Given the description of an element on the screen output the (x, y) to click on. 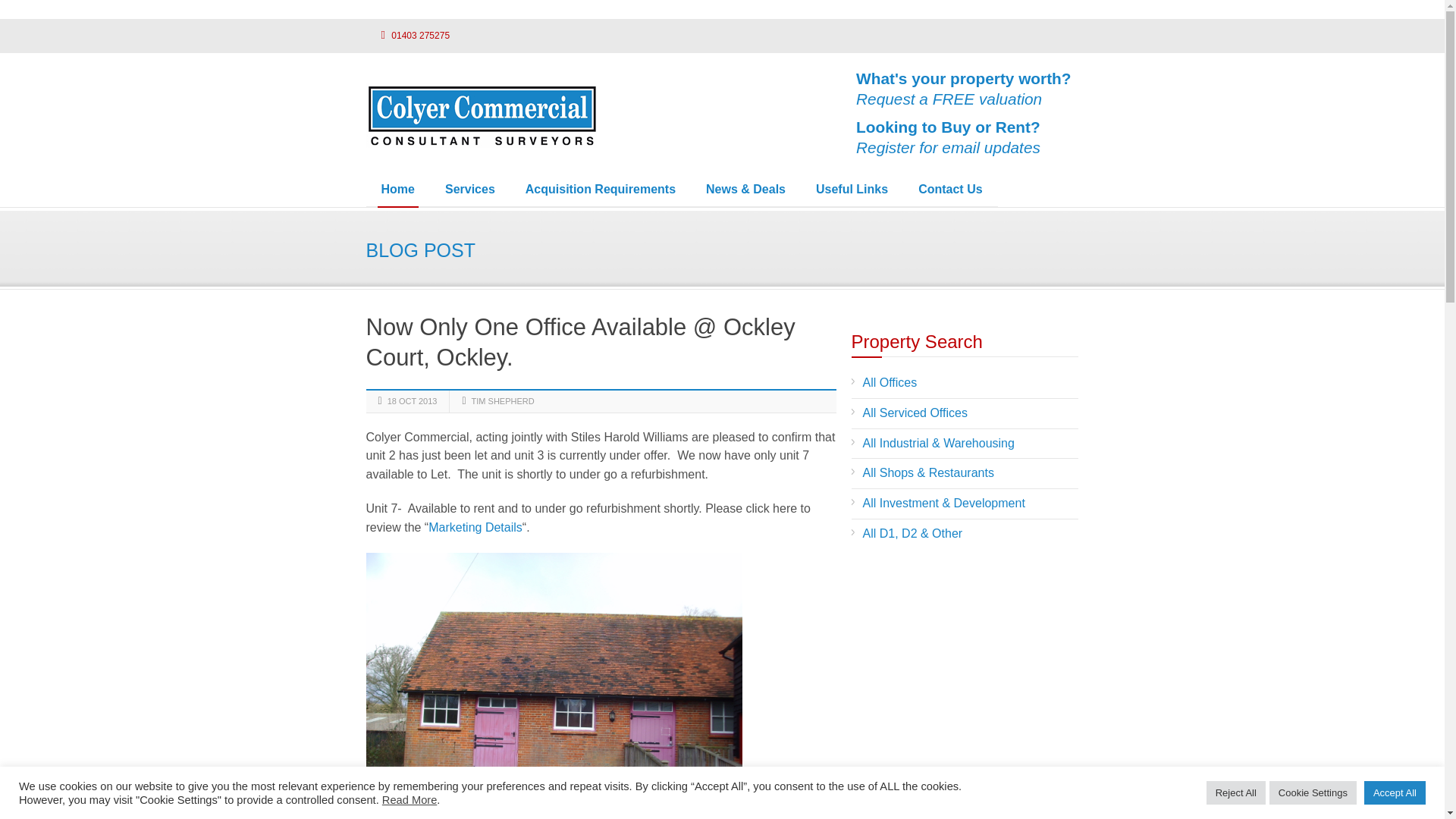
Acquisition Requirements (600, 189)
Services (470, 189)
Home (398, 189)
18 OCT 2013 (412, 400)
Useful Links (963, 87)
01403 275275 (851, 189)
TIM SHEPHERD (963, 137)
Posts by Tim Shepherd (407, 34)
Marketing Details (502, 400)
Contact Us (502, 400)
